Given the description of an element on the screen output the (x, y) to click on. 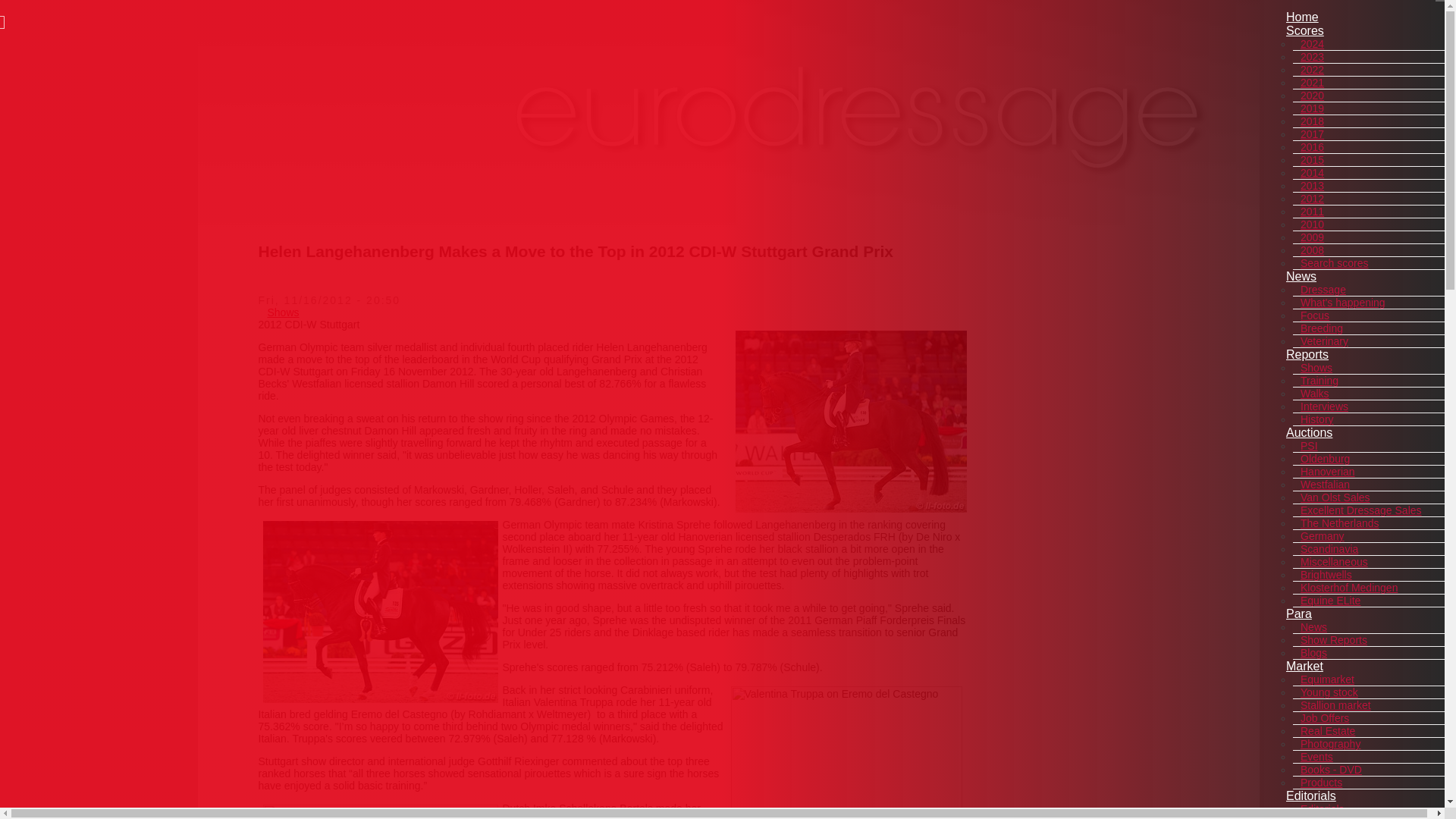
Focus (1314, 315)
News (1300, 276)
Scores (1304, 30)
Dressage (1323, 289)
Hanoverian (1327, 471)
Imke Schellekens-Bartels on Toots (379, 811)
Search scores (1333, 262)
Interviews (1323, 406)
2017 (1312, 134)
2014 (1312, 172)
